Given the description of an element on the screen output the (x, y) to click on. 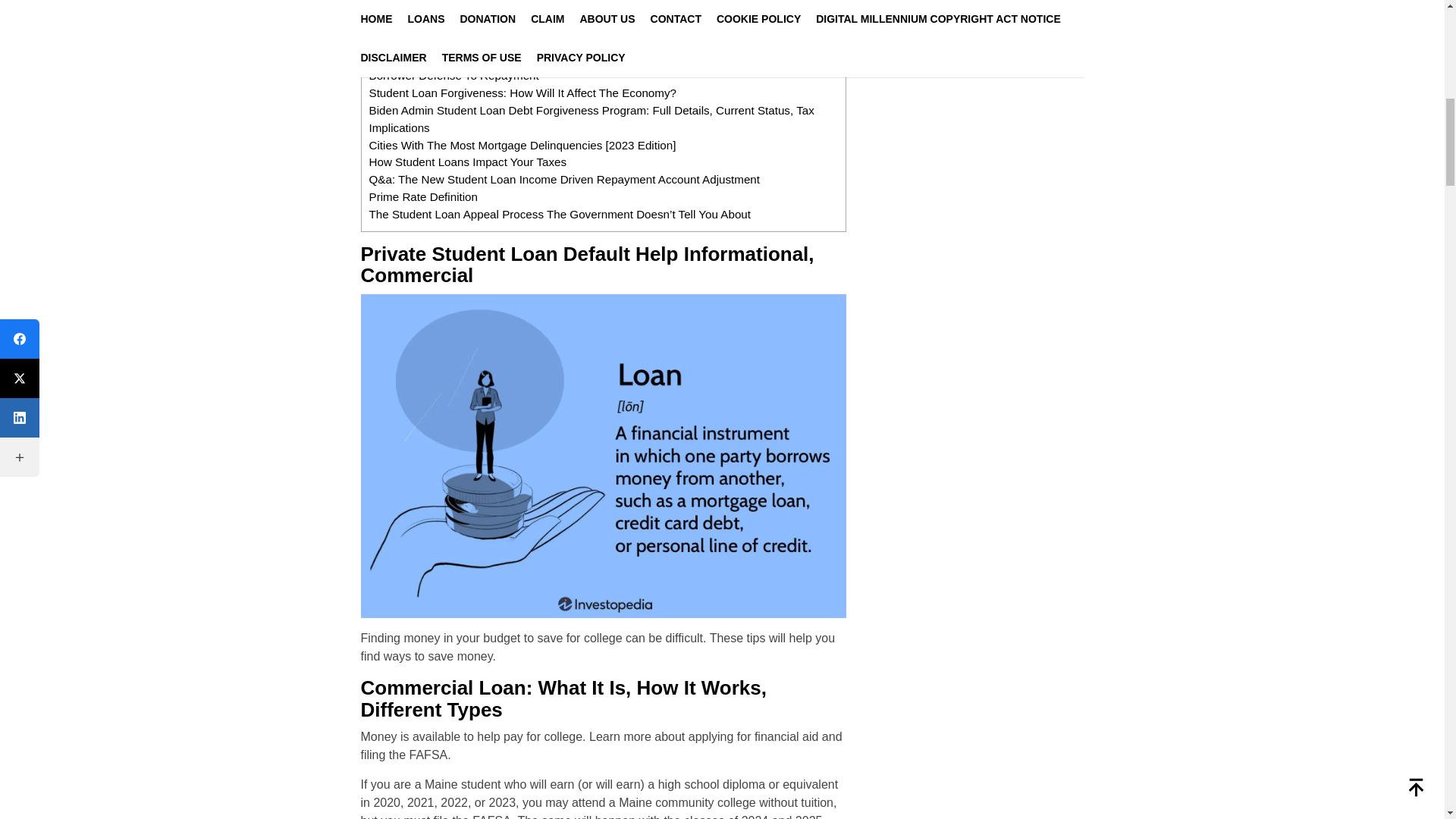
Student Loan Forgiveness: How Will It Affect The Economy? (522, 92)
Commercial Loan: What It Is, How It Works, Different Types (519, 23)
Statute Of Limitations On Private Student Loans: State Guide (524, 41)
Prime Rate Definition (422, 196)
How To Get A Student Loan With Bad Credit (481, 58)
How Student Loans Impact Your Taxes (467, 161)
Private Student Loan Default Help Informational, Commercial (523, 6)
Borrower Defense To Repayment (453, 74)
